Given the description of an element on the screen output the (x, y) to click on. 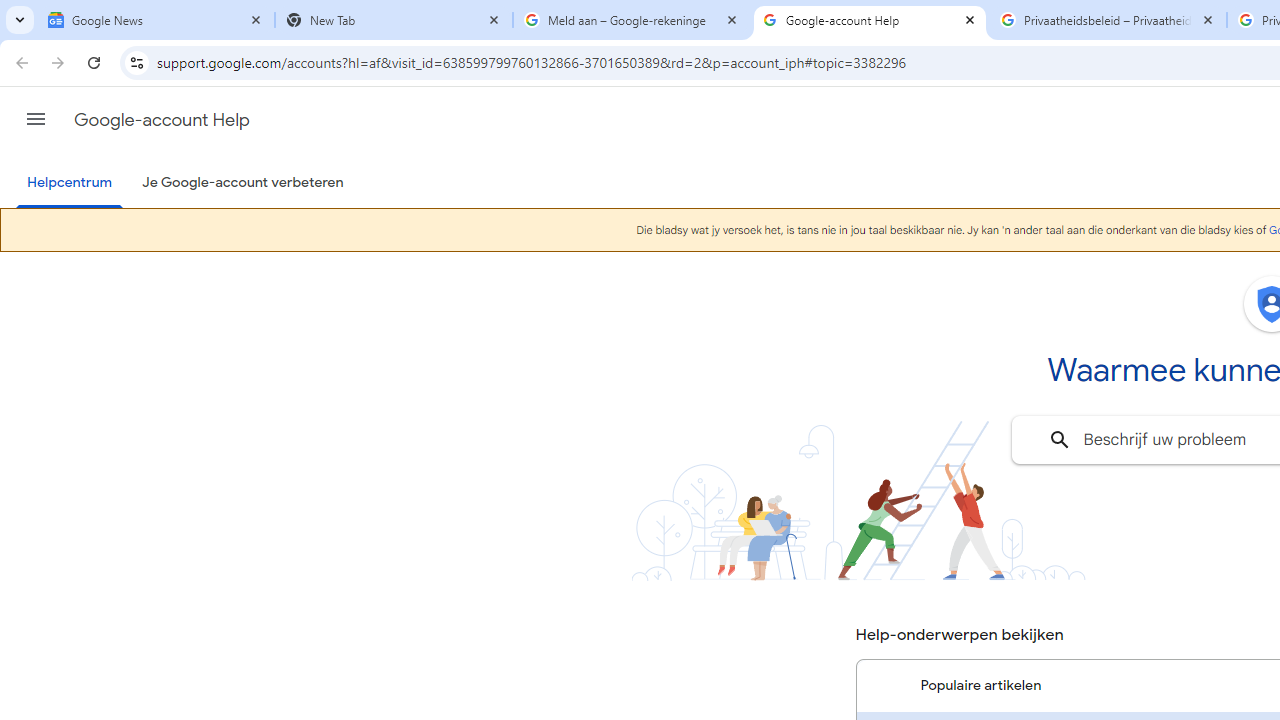
New Tab (394, 20)
Je Google-account verbeteren (242, 183)
Google-account Help (161, 119)
